Given the description of an element on the screen output the (x, y) to click on. 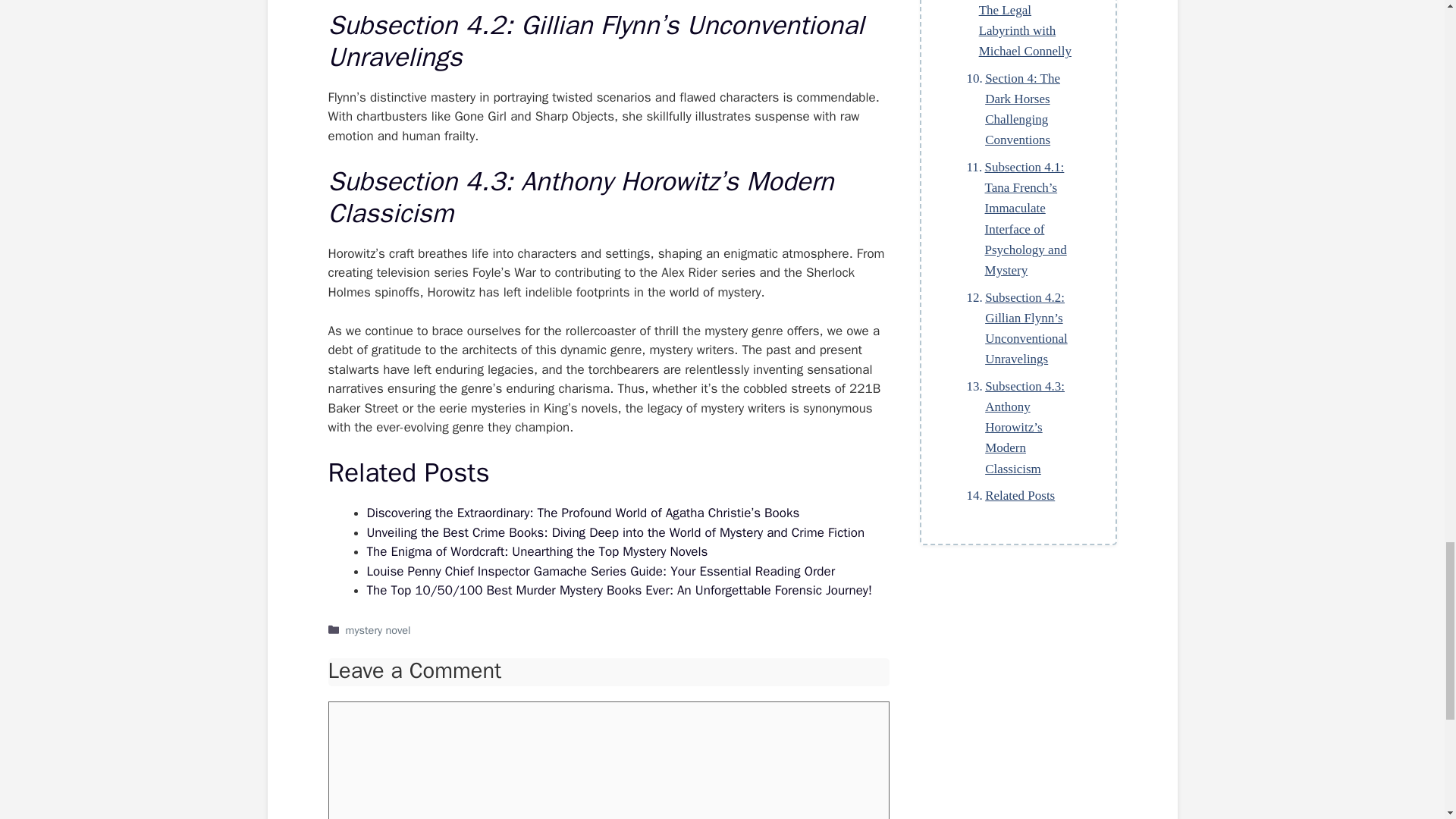
mystery novel (378, 630)
The Enigma of Wordcraft: Unearthing the Top Mystery Novels (536, 551)
